Given the description of an element on the screen output the (x, y) to click on. 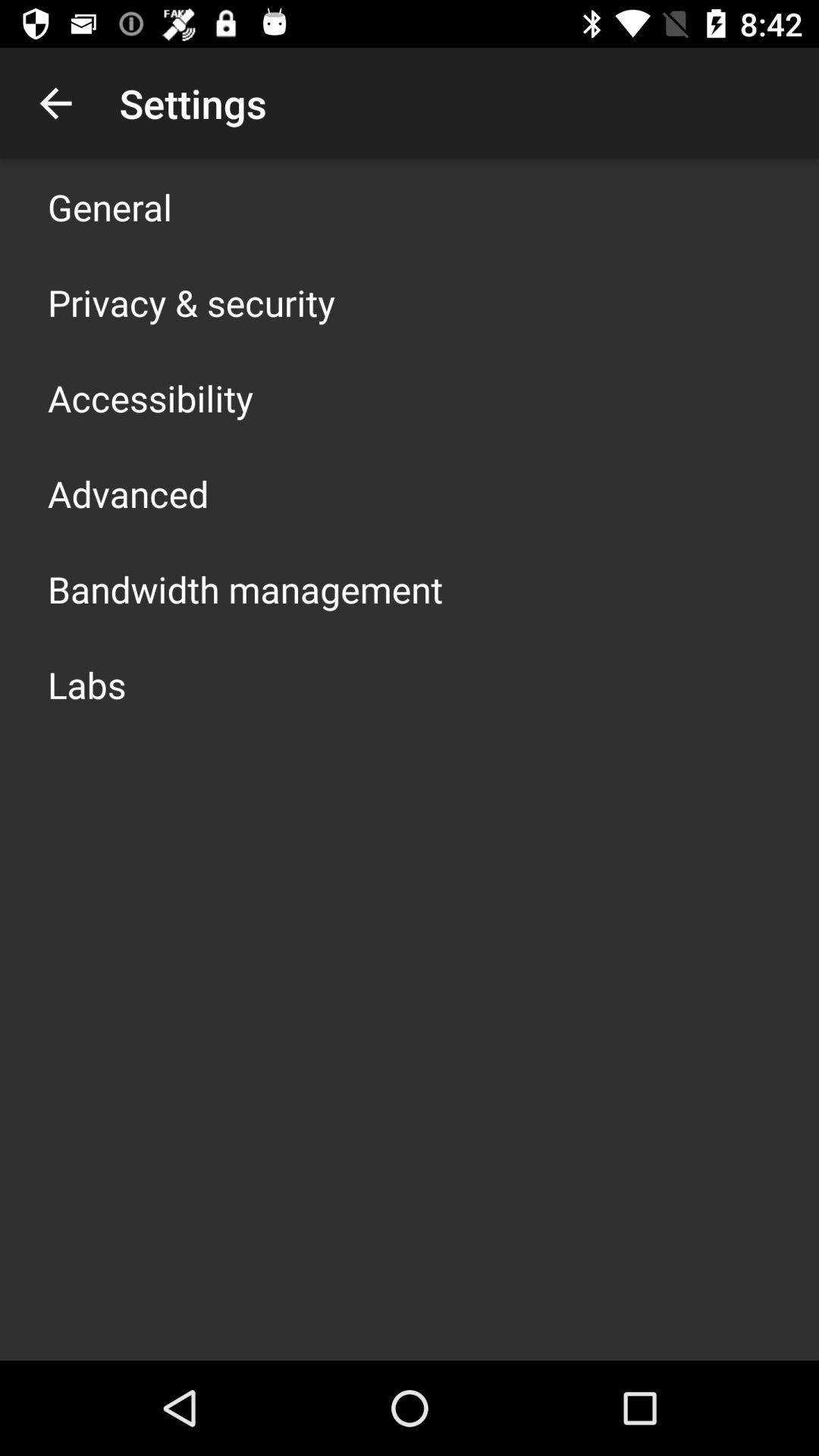
launch the item above labs icon (245, 588)
